Given the description of an element on the screen output the (x, y) to click on. 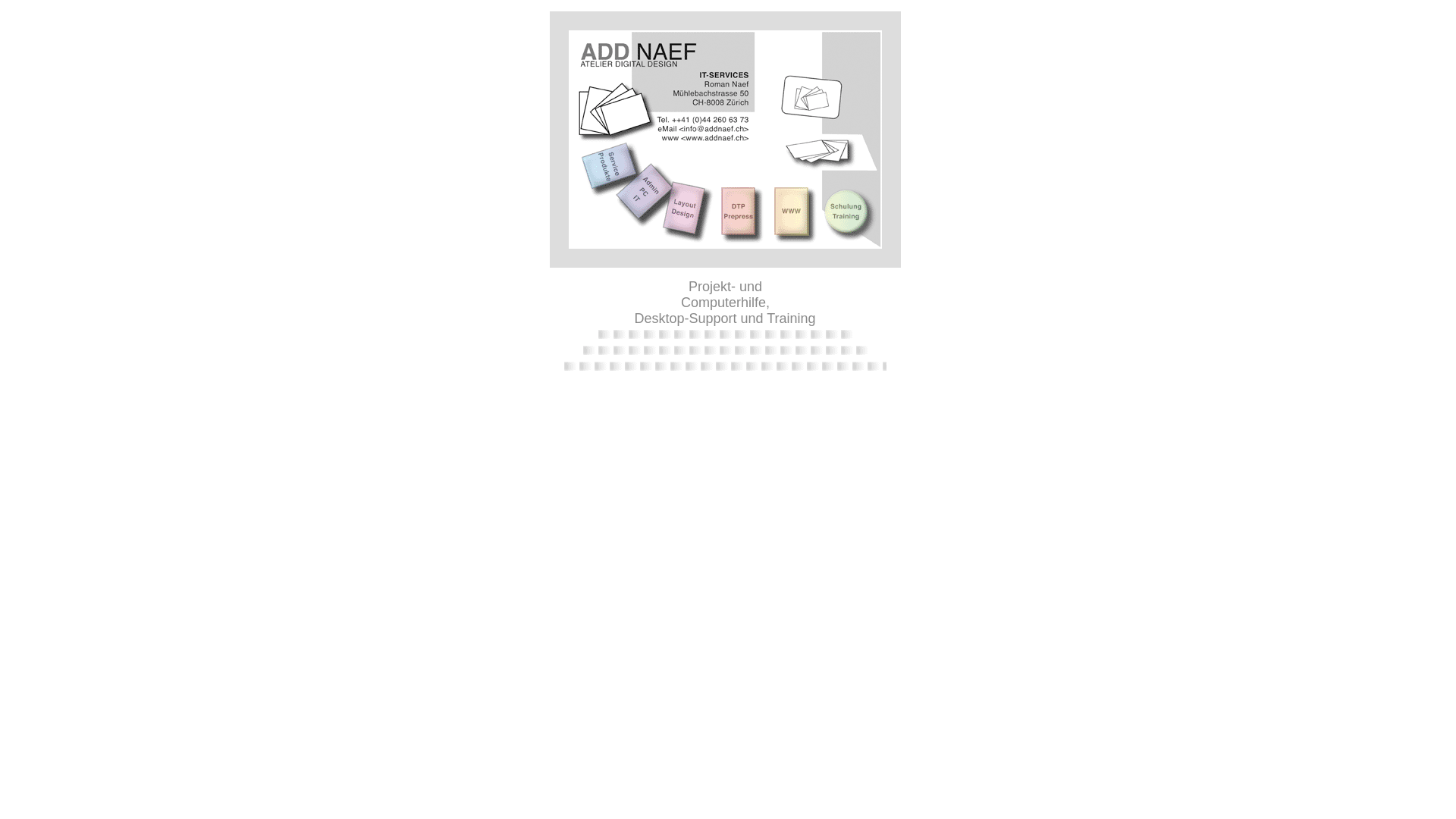
Projekt- und
Computerhilfe,
Desktop-Support und Training Element type: text (724, 302)
